Given the description of an element on the screen output the (x, y) to click on. 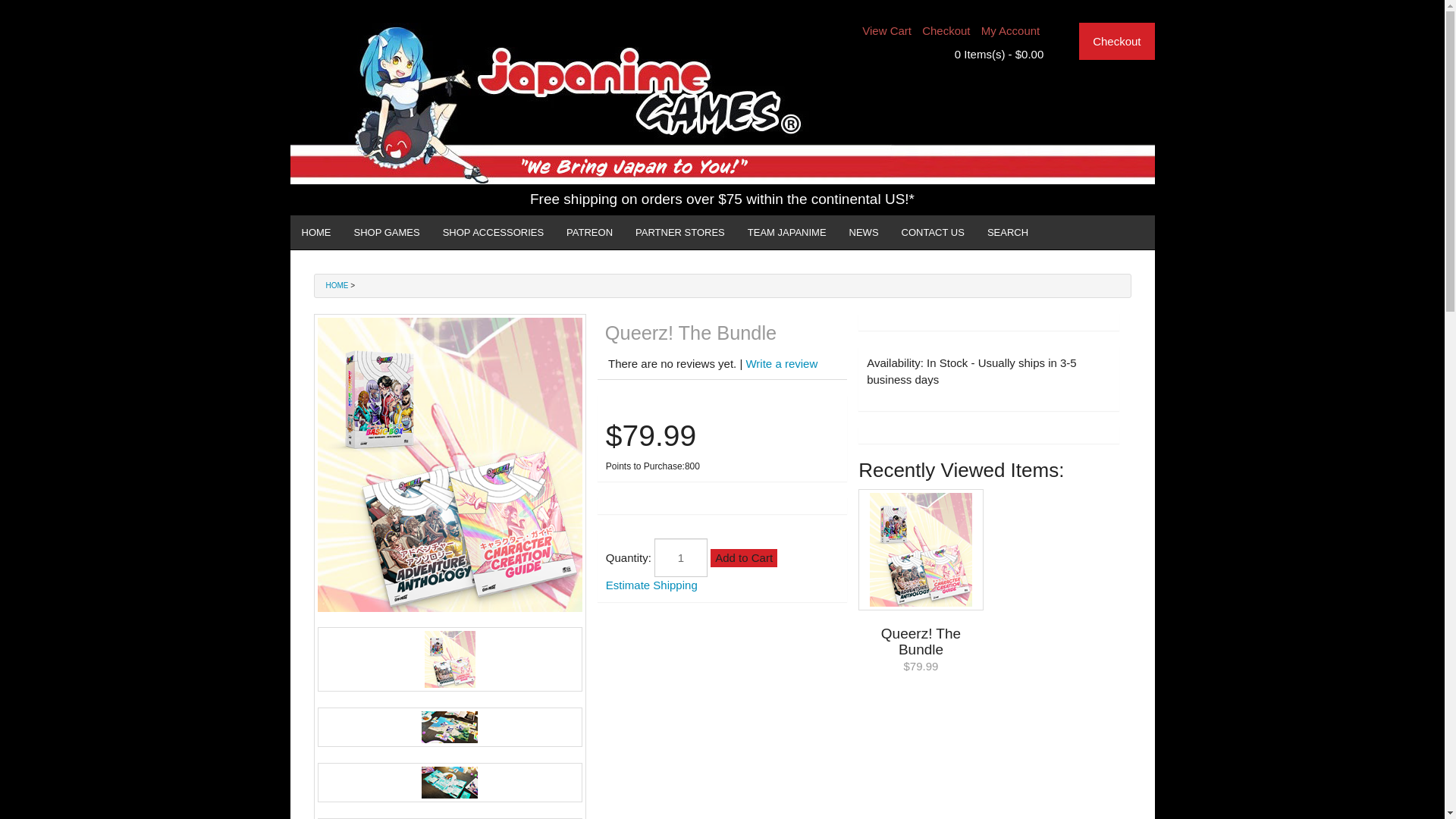
Checkout (945, 30)
1 (680, 557)
Checkout (1116, 40)
Add to Cart (743, 557)
View Cart (886, 30)
My Account (1011, 30)
HOME (315, 232)
SHOP GAMES (386, 232)
